Given the description of an element on the screen output the (x, y) to click on. 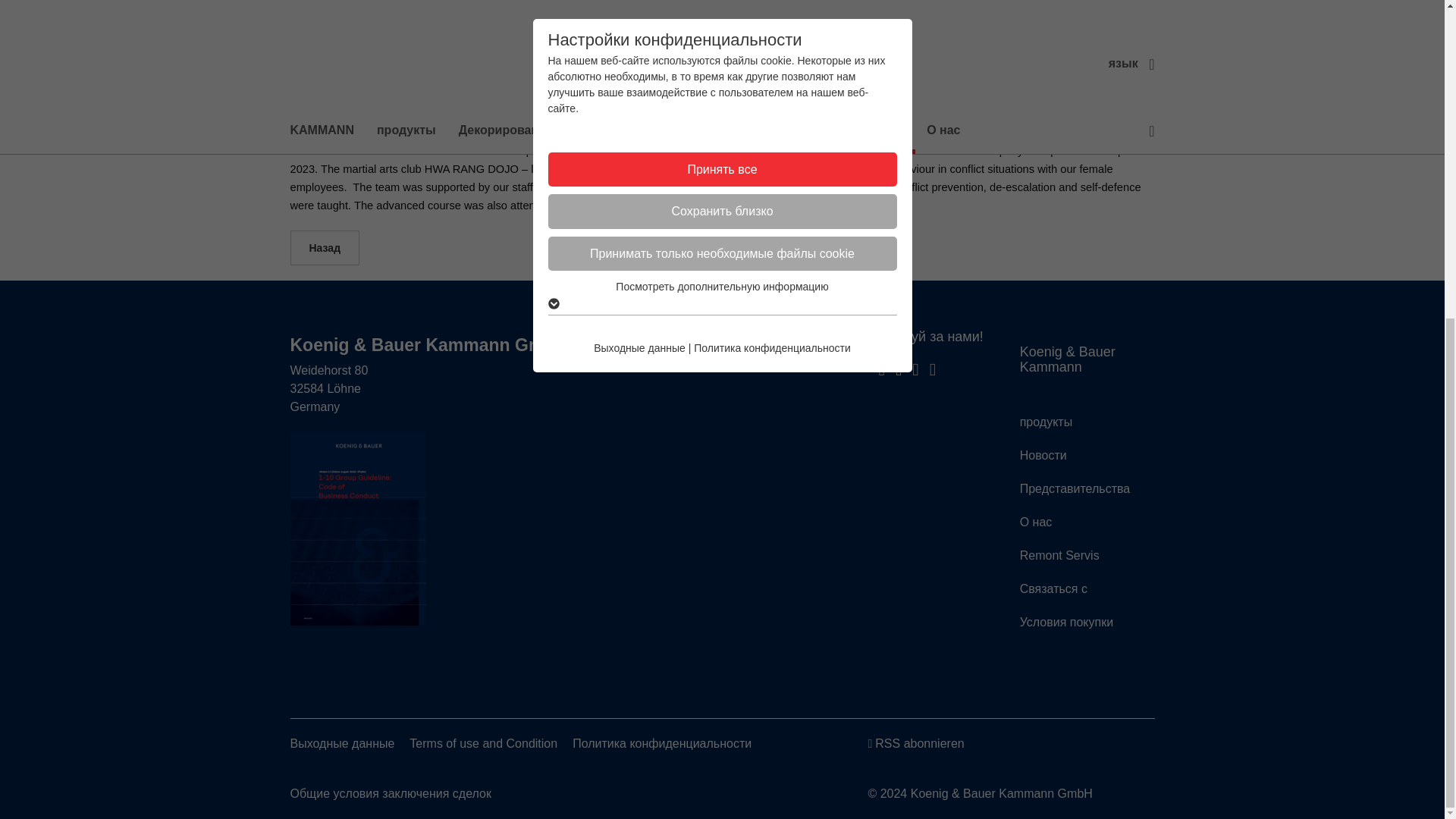
Remont Servis (1059, 555)
